Given the description of an element on the screen output the (x, y) to click on. 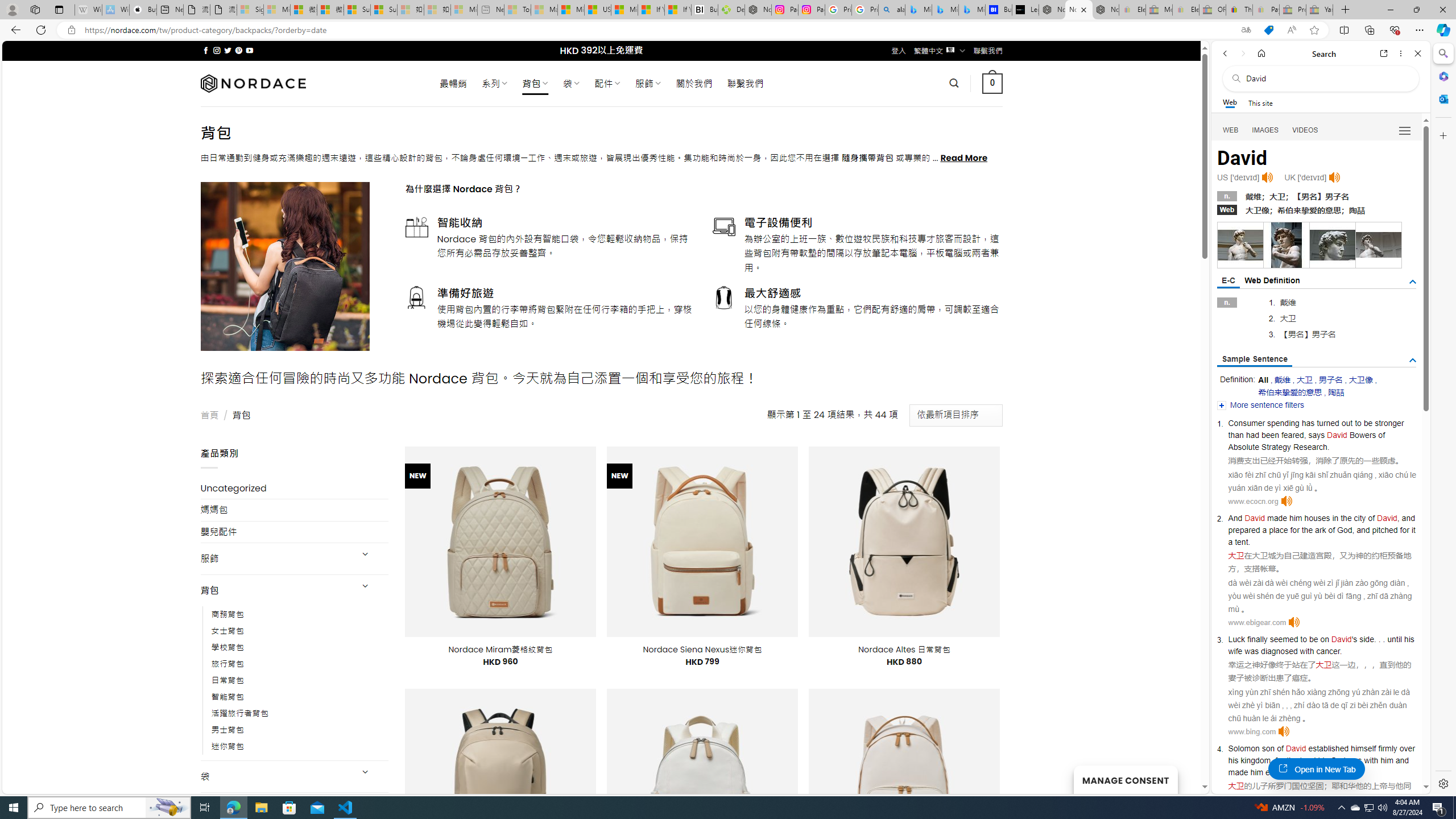
Consumer (1246, 422)
And (1235, 517)
for (1404, 529)
Follow on Twitter (227, 50)
